Given the description of an element on the screen output the (x, y) to click on. 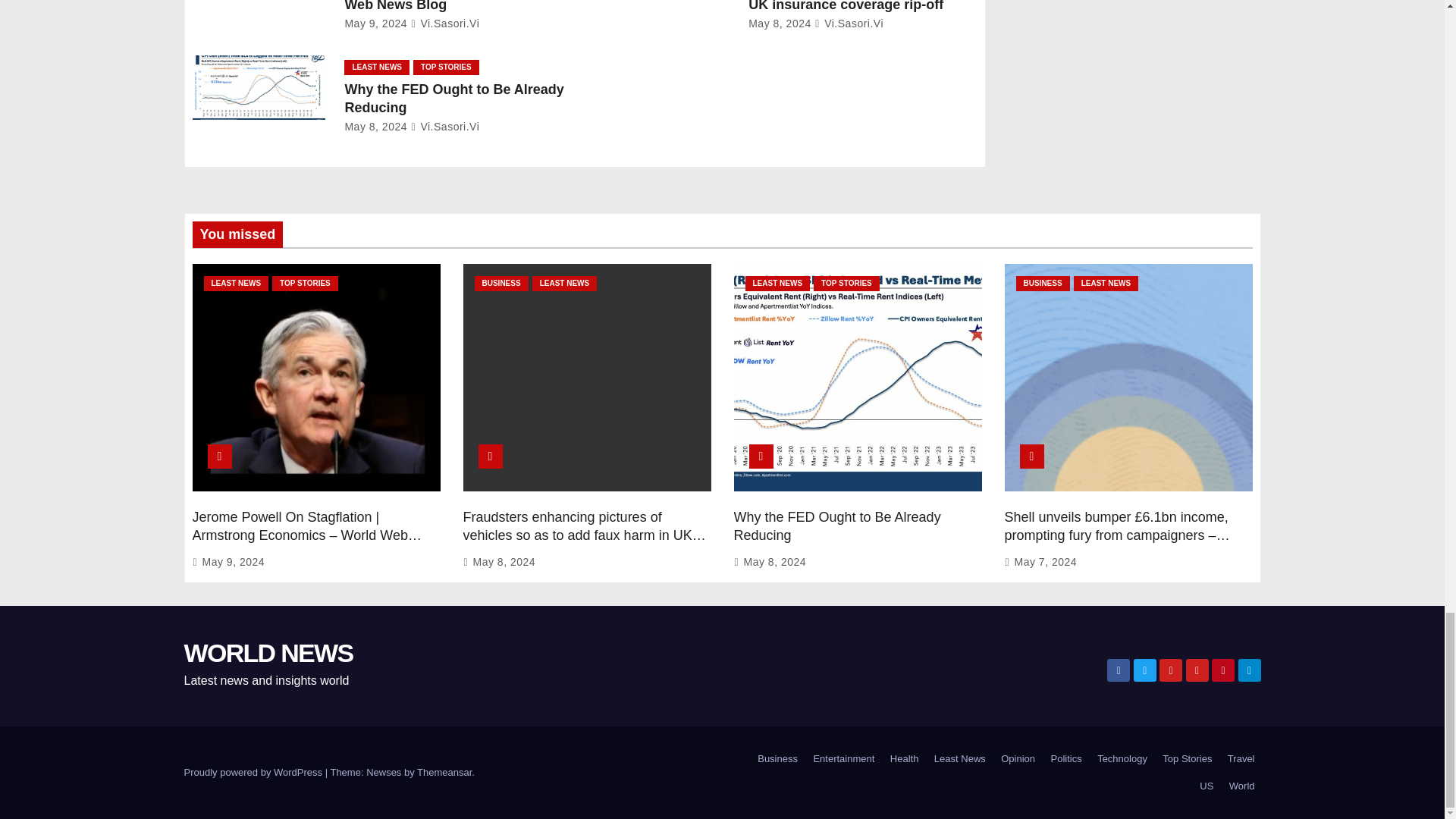
Permalink to: Why the FED Ought to Be Already Reducing (836, 525)
Permalink to: Why the FED Ought to Be Already Reducing (453, 98)
